Given the description of an element on the screen output the (x, y) to click on. 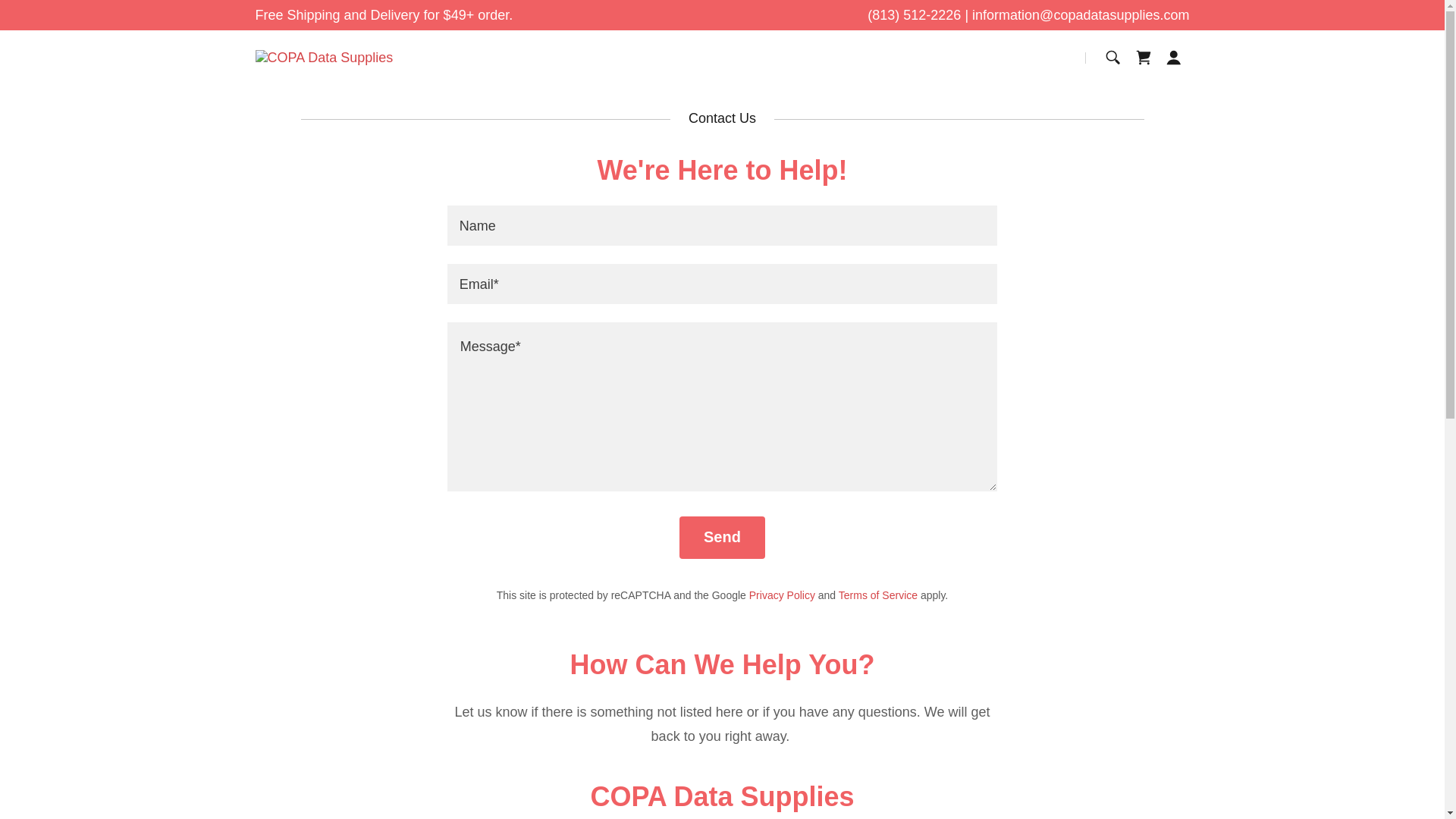
Send (722, 537)
COPA Data Supplies (323, 57)
